Given the description of an element on the screen output the (x, y) to click on. 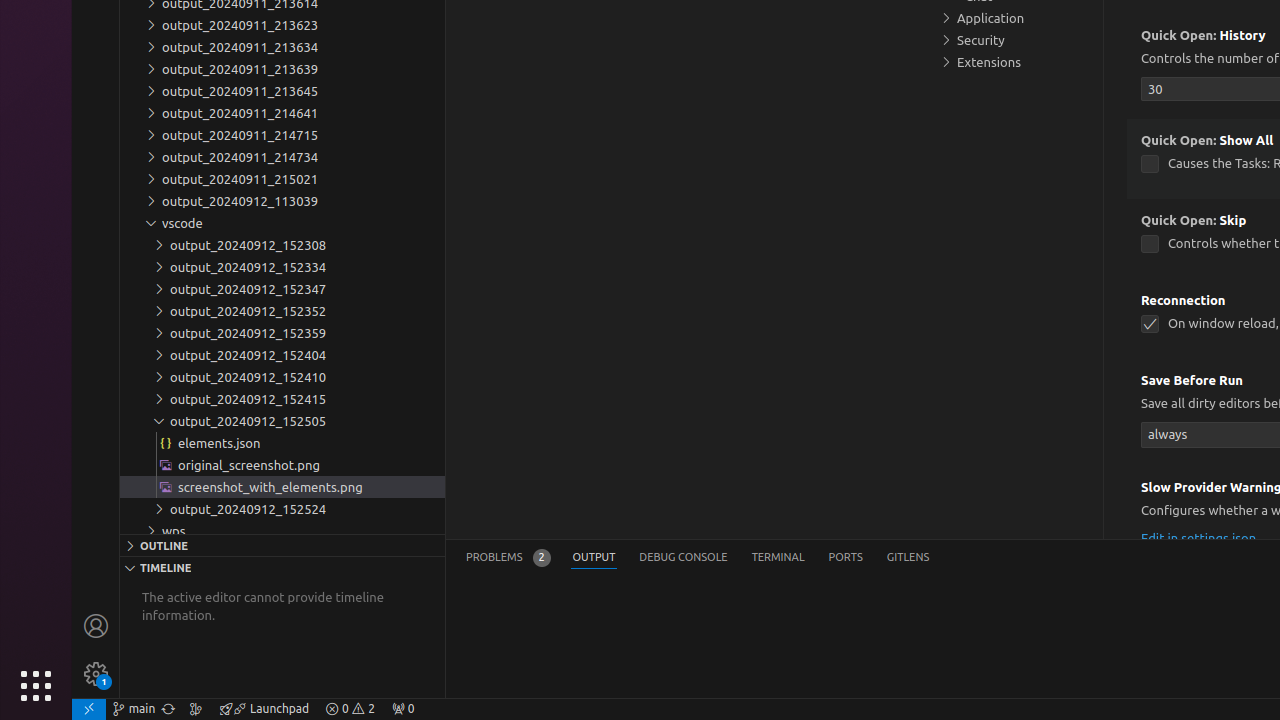
output_20240912_152404 Element type: tree-item (282, 355)
